Given the description of an element on the screen output the (x, y) to click on. 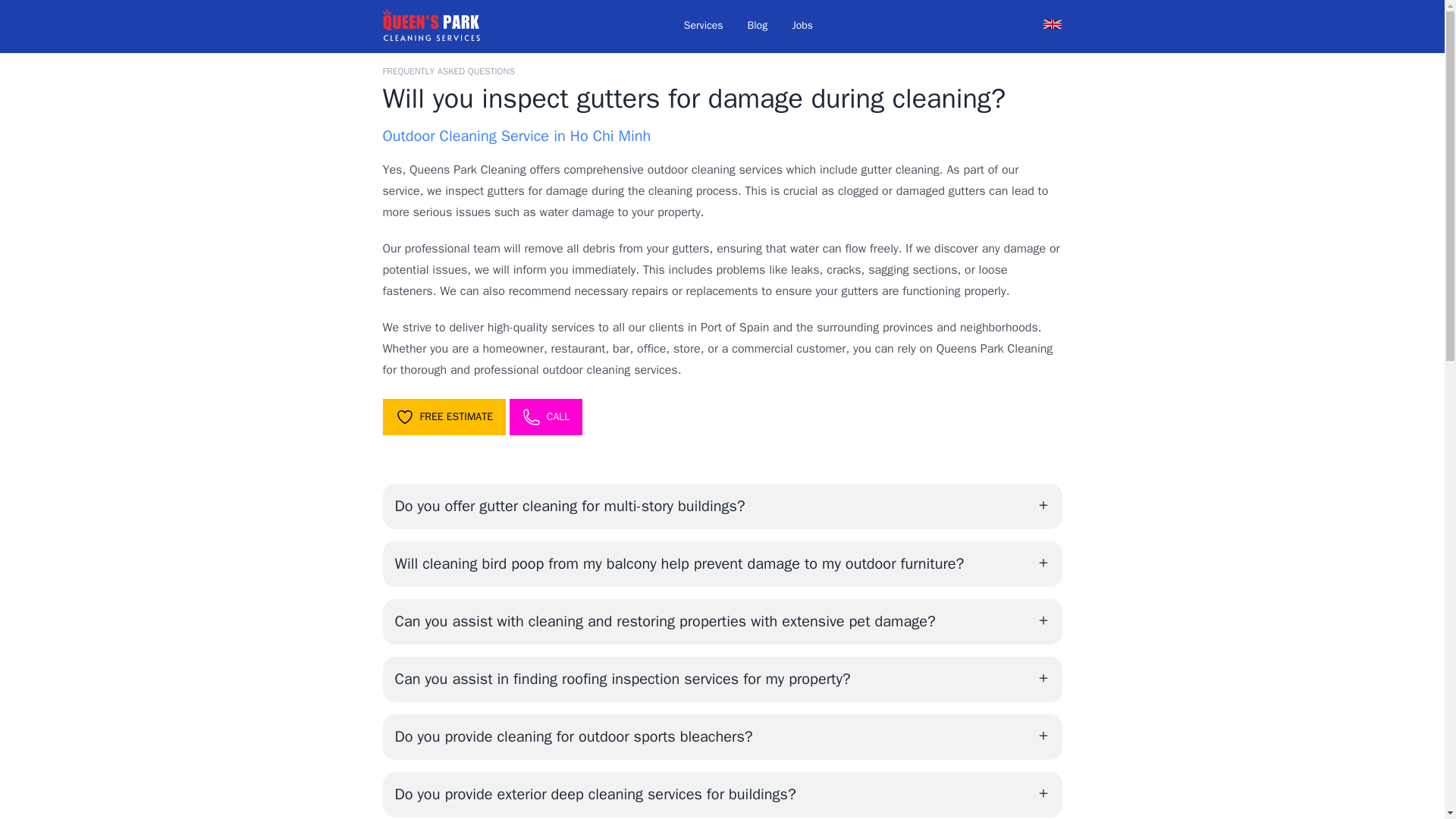
Services (703, 25)
Jobs (801, 25)
Queens Park Cleaning Home (430, 25)
Blog (757, 25)
Outdoor Cleaning Service in Ho Chi Minh (515, 135)
FREE ESTIMATE (443, 416)
CALL (546, 416)
